Given the description of an element on the screen output the (x, y) to click on. 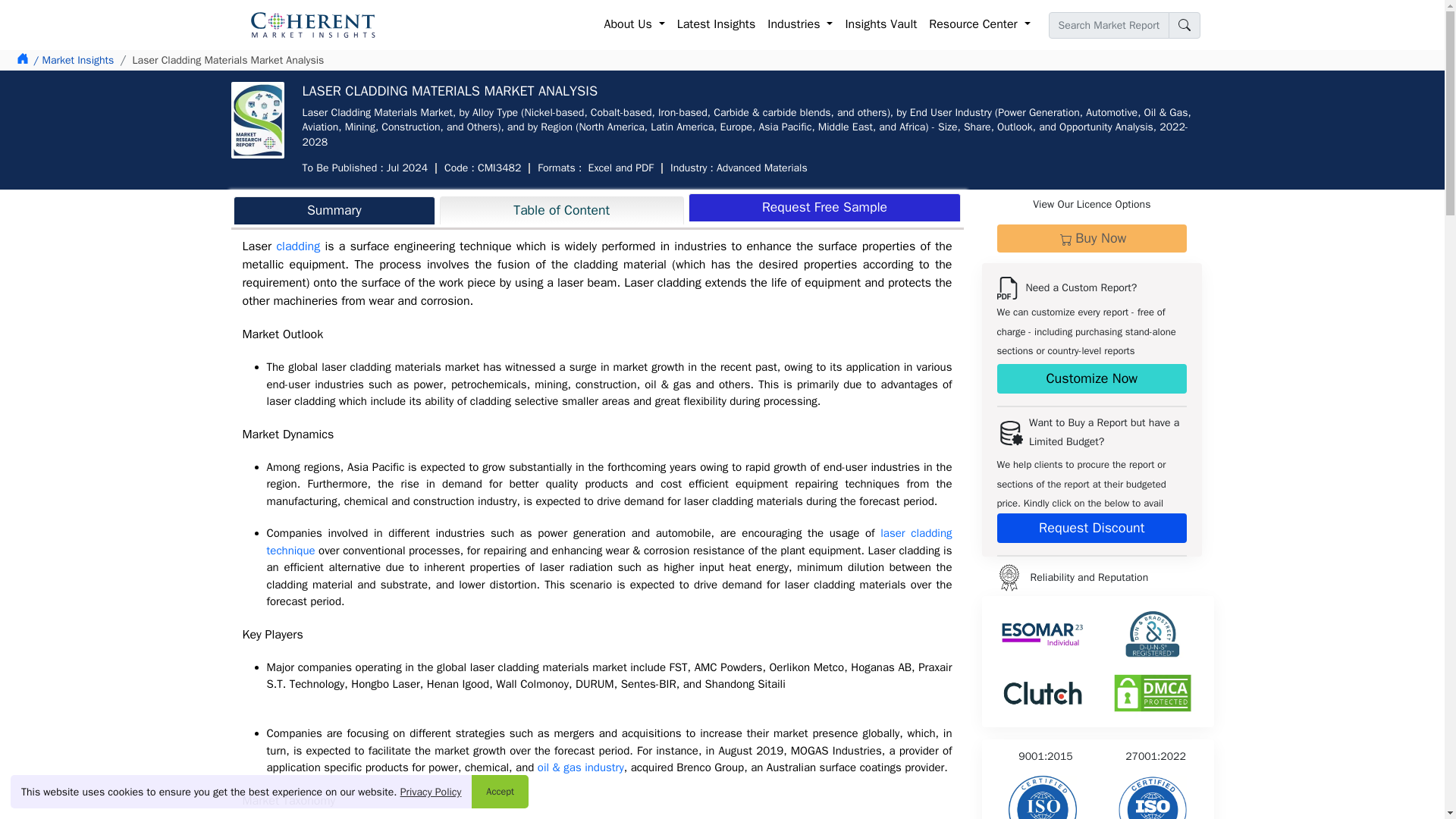
search (1183, 25)
Advanced Materials (762, 167)
Accept (499, 791)
Industries (799, 24)
Clutch (1043, 693)
Request Discount (1090, 527)
Privacy Policy (430, 791)
ESOMAR (1043, 634)
Logo (1007, 577)
DMCA Protected (1152, 693)
About Us (634, 24)
Latest Insights (716, 24)
Reliability and Reputation (1152, 797)
Coherent Market Insights (312, 24)
Market Insights (73, 60)
